Given the description of an element on the screen output the (x, y) to click on. 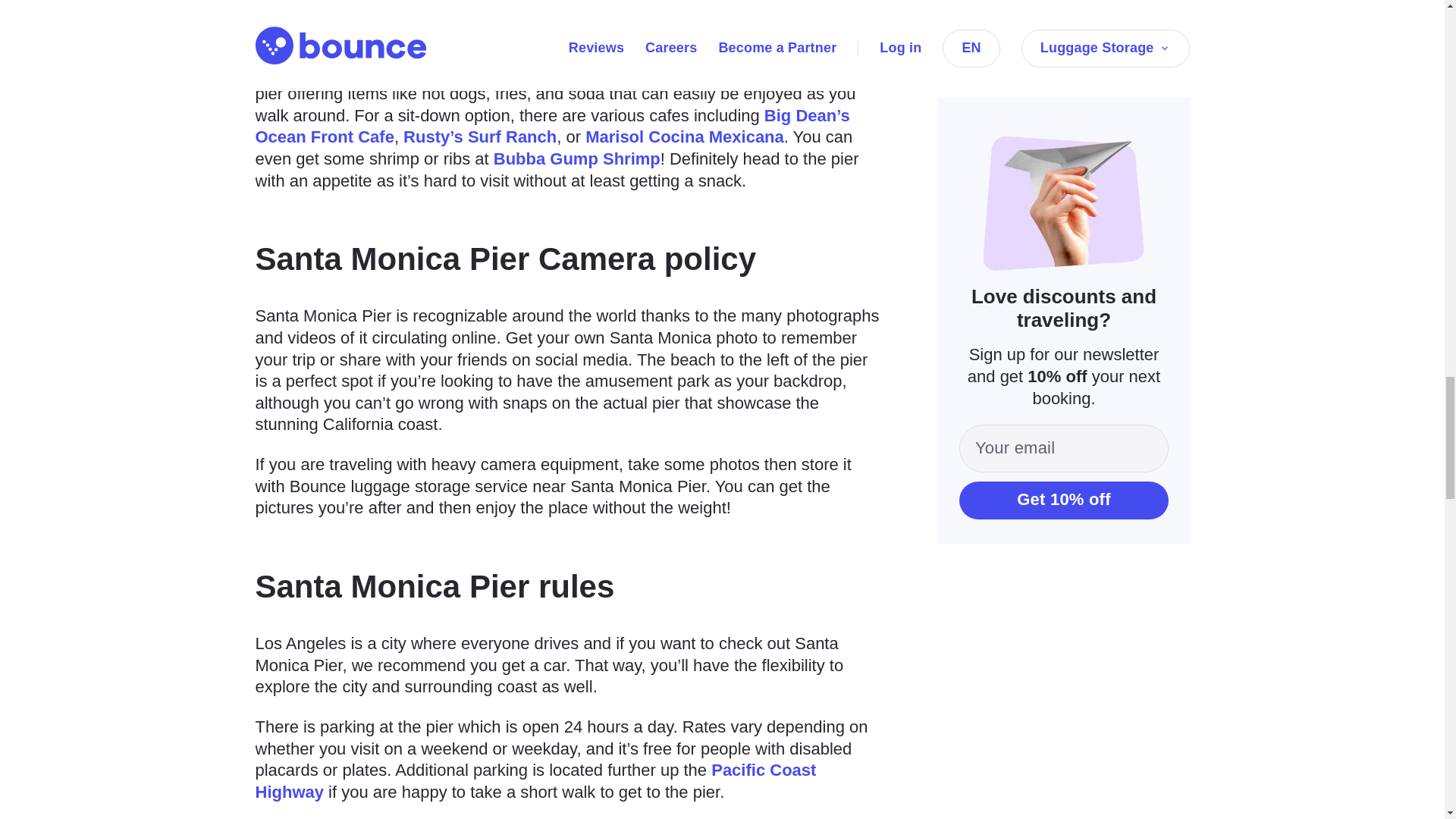
Bubba Gump Shrimp (577, 158)
Pacific Coast Highway (534, 780)
Marisol Cocina Mexicana (684, 136)
